Given the description of an element on the screen output the (x, y) to click on. 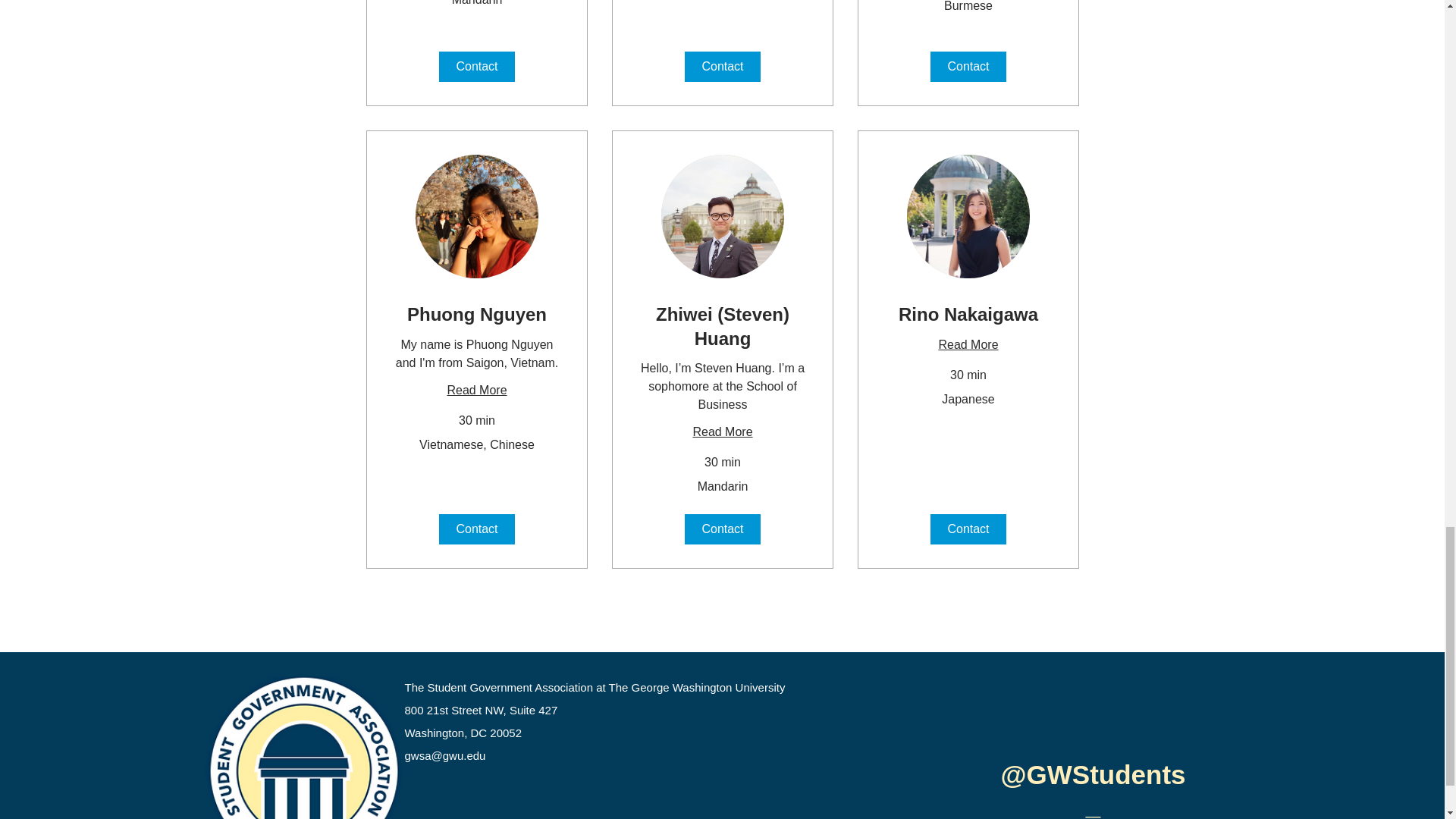
Contact (475, 66)
